Given the description of an element on the screen output the (x, y) to click on. 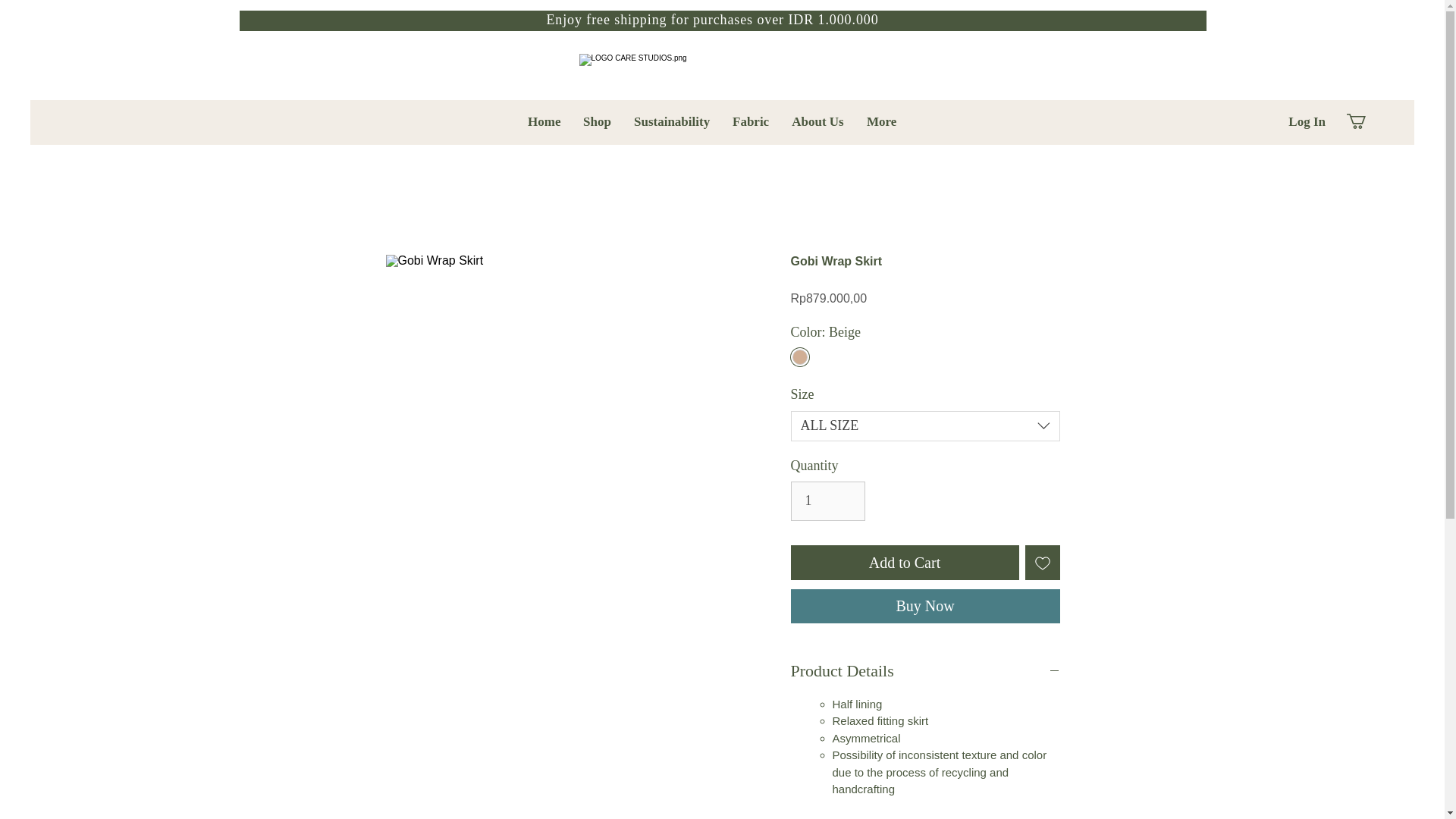
1 (827, 500)
About Us (818, 121)
Shop (597, 121)
Log In (1307, 121)
Add to Cart (903, 562)
Product Details (924, 671)
Sustainability (671, 121)
Buy Now (924, 605)
Home (544, 121)
ALL SIZE (924, 426)
